Given the description of an element on the screen output the (x, y) to click on. 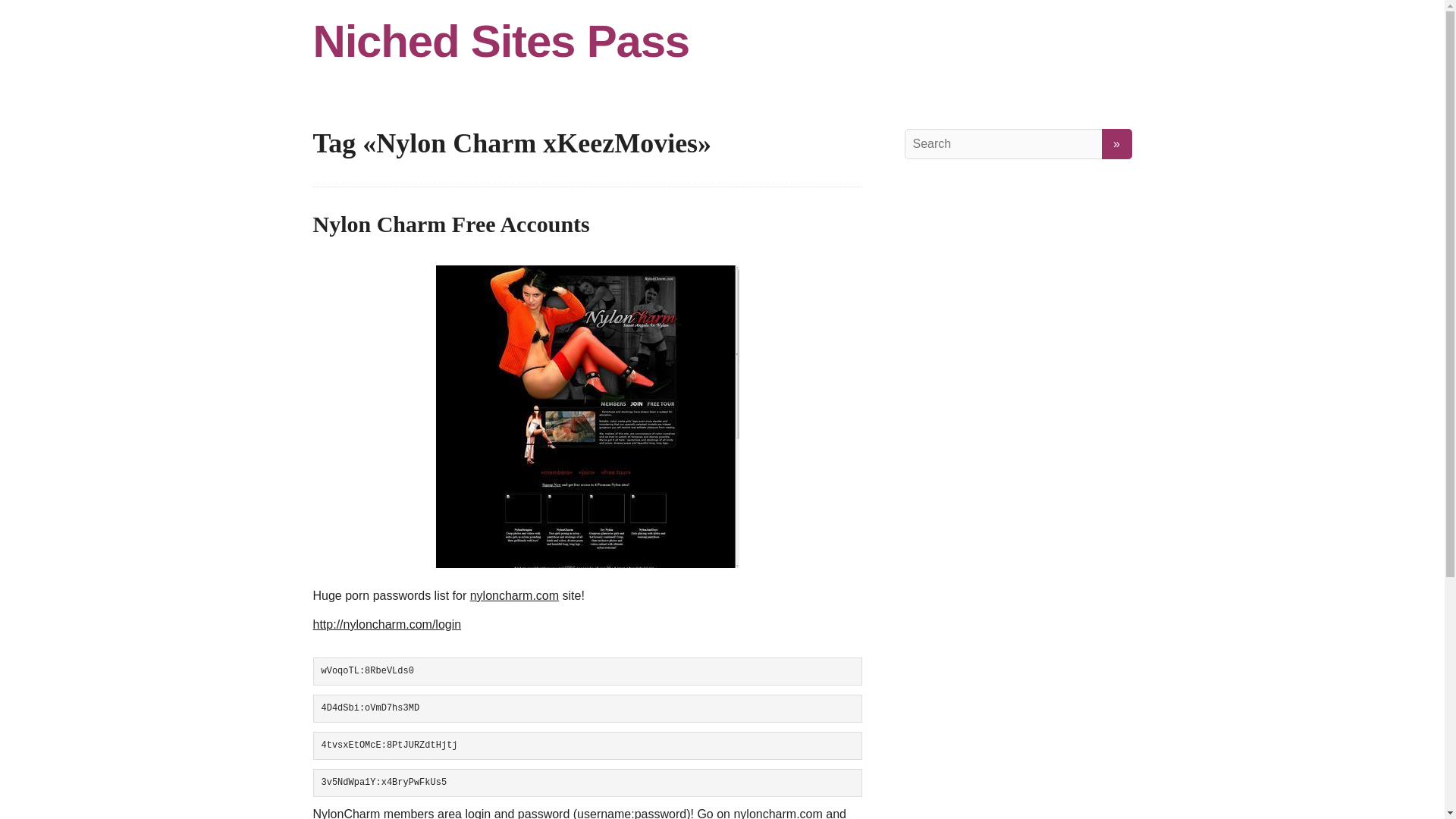
Niched Sites Pass (722, 41)
Nylon Charm (587, 416)
Nylon Charm Free Accounts (451, 223)
nyloncharm.com (514, 594)
Niched Sites Pass (722, 41)
Nylon Charm Free Accounts (451, 223)
nyloncharm.com (777, 813)
